Given the description of an element on the screen output the (x, y) to click on. 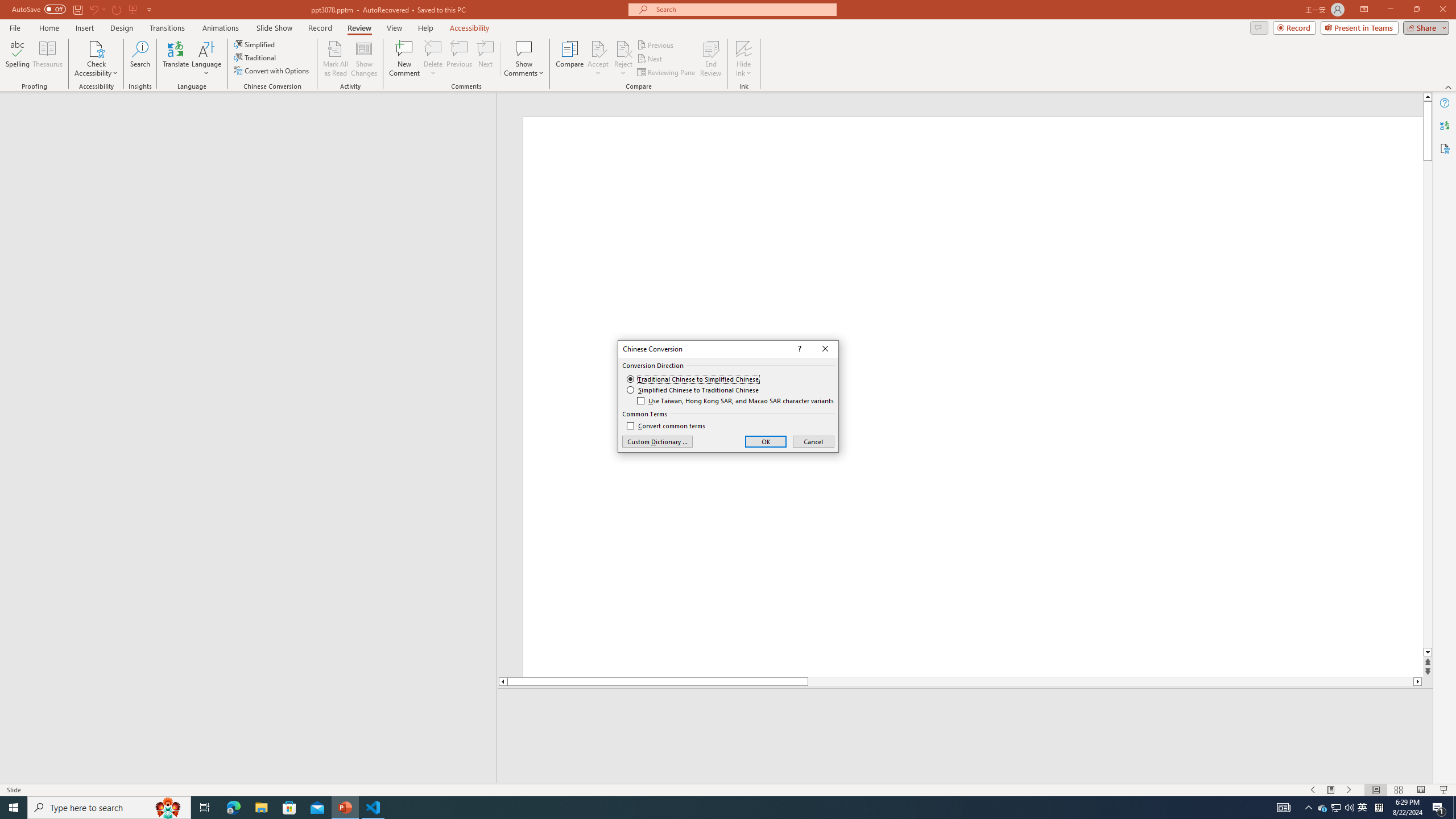
OK (765, 440)
Convert with Options... (272, 69)
Accept (598, 58)
